Given the description of an element on the screen output the (x, y) to click on. 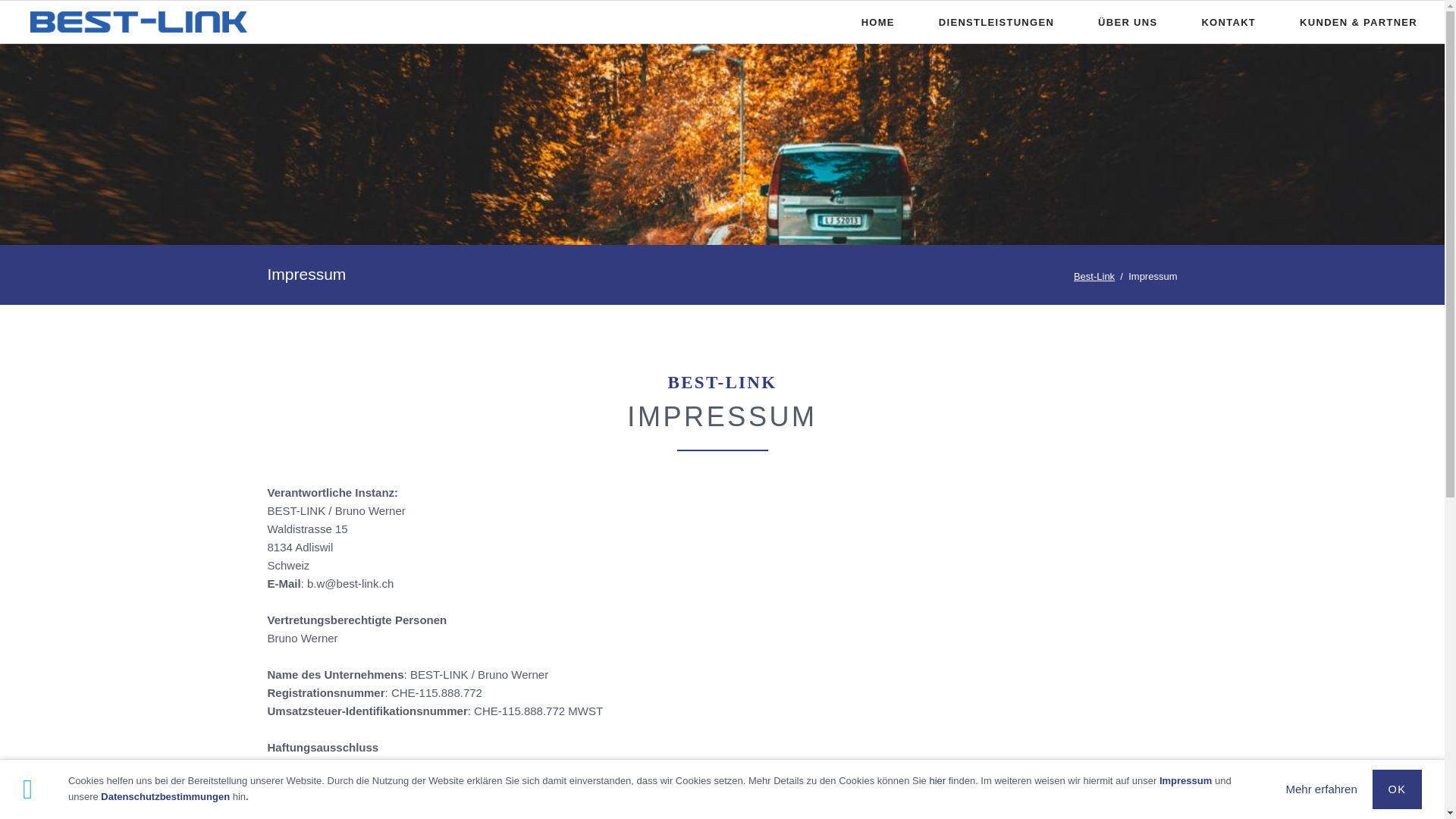
HOME Element type: text (877, 21)
KONTAKT Element type: text (1228, 21)
Best-Link Element type: text (1093, 276)
Mehr erfahren Element type: text (1321, 788)
Datenschutzbestimmungen Element type: text (164, 796)
Impressum Element type: text (1185, 780)
KUNDEN & PARTNER Element type: text (1358, 21)
OK Element type: text (1396, 789)
hier Element type: text (936, 780)
DIENSTLEISTUNGEN Element type: text (996, 21)
